Given the description of an element on the screen output the (x, y) to click on. 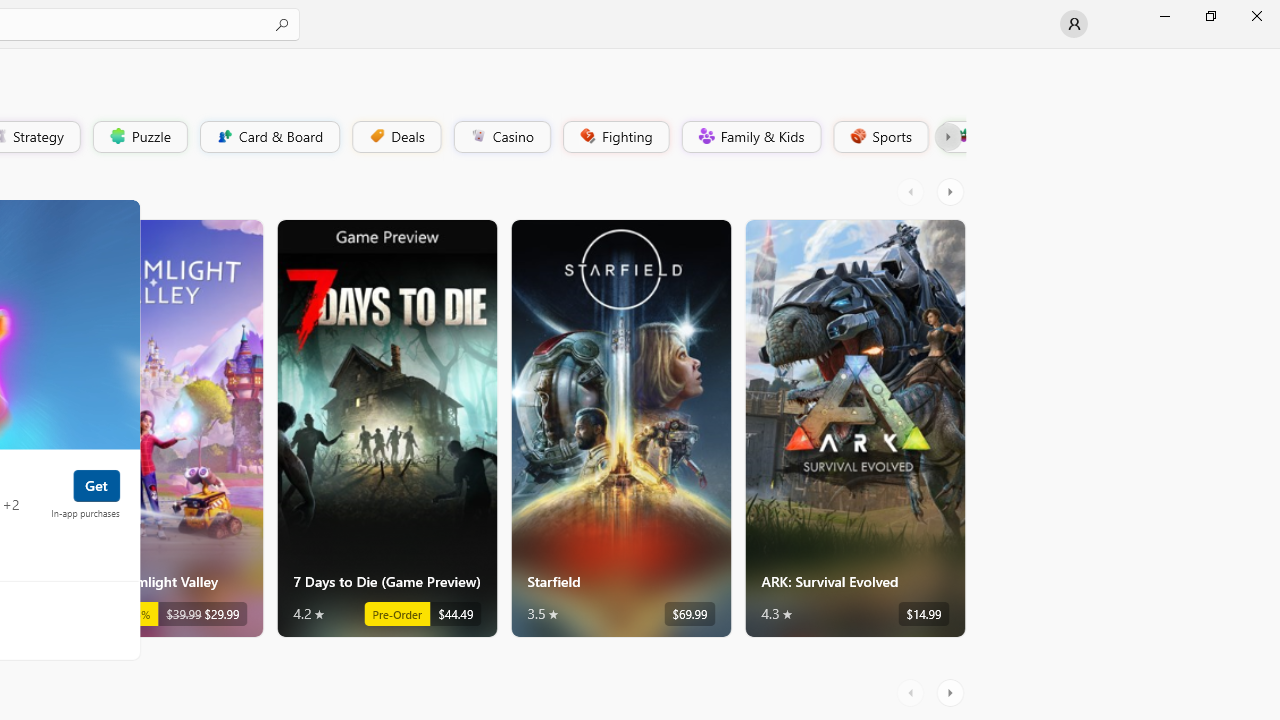
AutomationID: RightScrollButton (952, 692)
User profile (1073, 24)
Minimize Microsoft Store (1164, 15)
Get (96, 484)
